Given the description of an element on the screen output the (x, y) to click on. 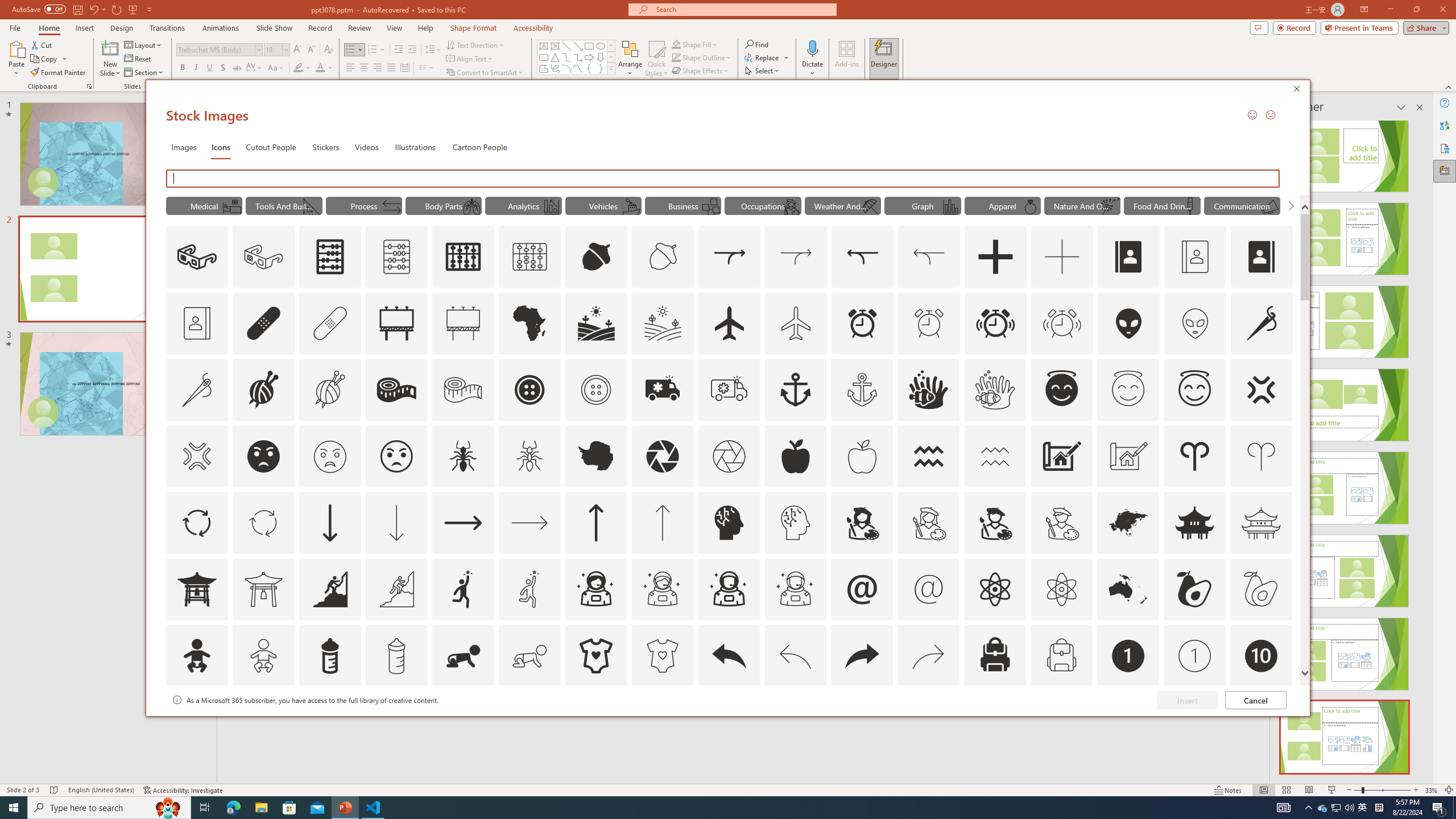
outline (1194, 389)
AutomationID: Icons_Add (995, 256)
AutomationID: Icons_Advertising_M (462, 323)
AutomationID: Icons_Badge1_M (1194, 655)
